Given the description of an element on the screen output the (x, y) to click on. 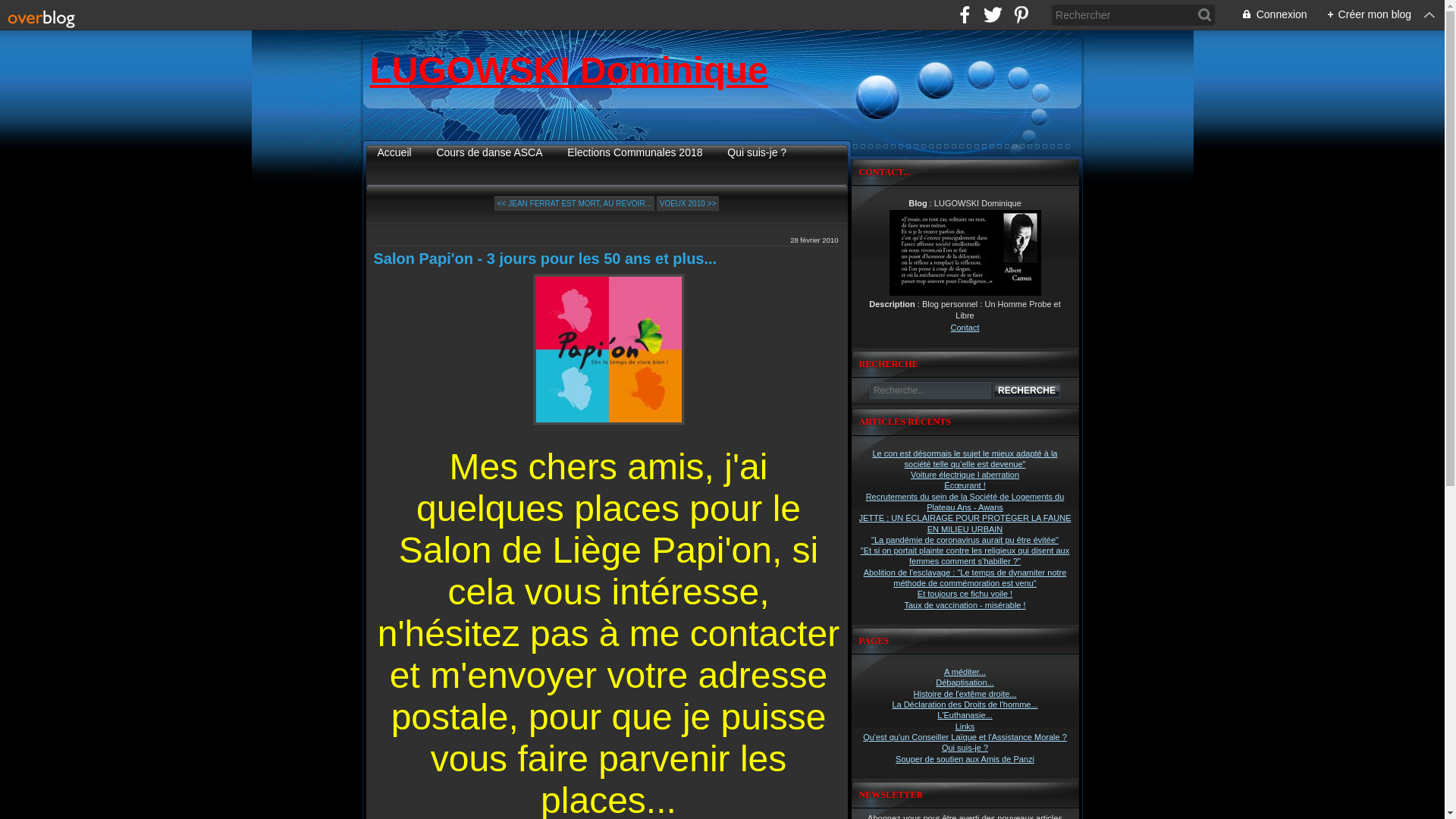
Connexion Element type: text (1266, 14)
<< JEAN FERRAT EST MORT, AU REVOIR... Element type: text (574, 203)
Elections Communales 2018 Element type: text (634, 152)
Qui suis-je ? Element type: text (964, 747)
Recherche Element type: text (1026, 390)
Accueil Element type: text (393, 152)
 pinterest Element type: hover (1020, 14)
Links Element type: text (965, 726)
Cours de danse ASCA Element type: text (488, 152)
LUGOWSKI Dominique Element type: text (569, 70)
Souper de soutien aux Amis de Panzi Element type: text (964, 758)
Contact Element type: text (964, 327)
Salon Papi'on - 3 jours pour les 50 ans et plus... Element type: text (544, 258)
L'Euthanasie... Element type: text (964, 714)
Et toujours ce fichu voile ! Element type: text (964, 593)
VOEUX 2010 >> Element type: text (687, 203)
Qui suis-je ? Element type: text (756, 152)
 twitter Element type: hover (992, 14)
 facebook Element type: hover (964, 14)
